Given the description of an element on the screen output the (x, y) to click on. 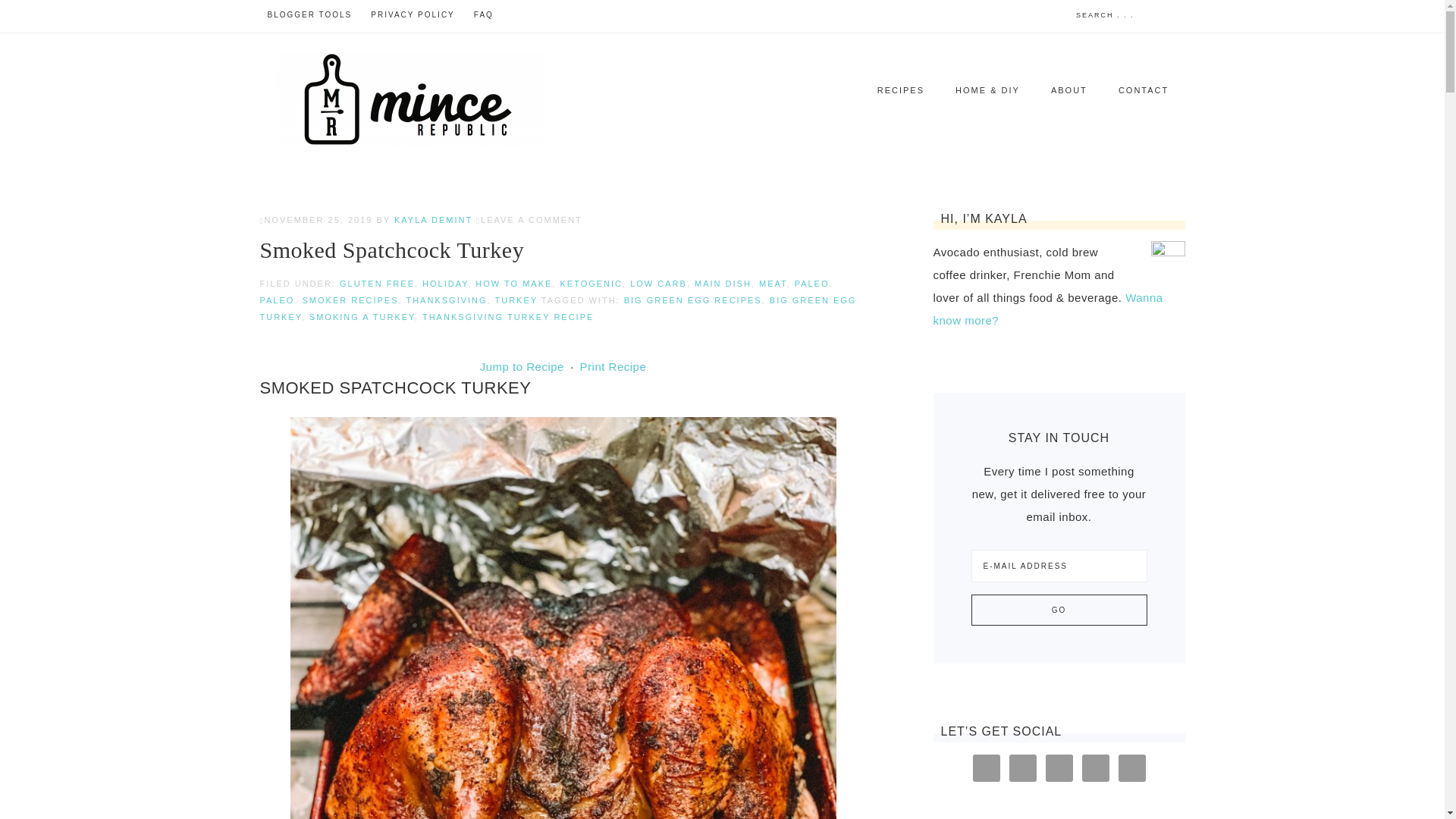
PALEO (276, 299)
ABOUT (1068, 90)
HOLIDAY (444, 283)
MEAT (772, 283)
KETOGENIC (591, 283)
HOW TO MAKE (513, 283)
RECIPES (900, 90)
GLUTEN FREE (376, 283)
LOW CARB (658, 283)
PALEO (811, 283)
PRIVACY POLICY (411, 15)
LEAVE A COMMENT (531, 219)
BLOGGER TOOLS (309, 15)
Go (1059, 609)
KAYLA DEMINT (432, 219)
